Given the description of an element on the screen output the (x, y) to click on. 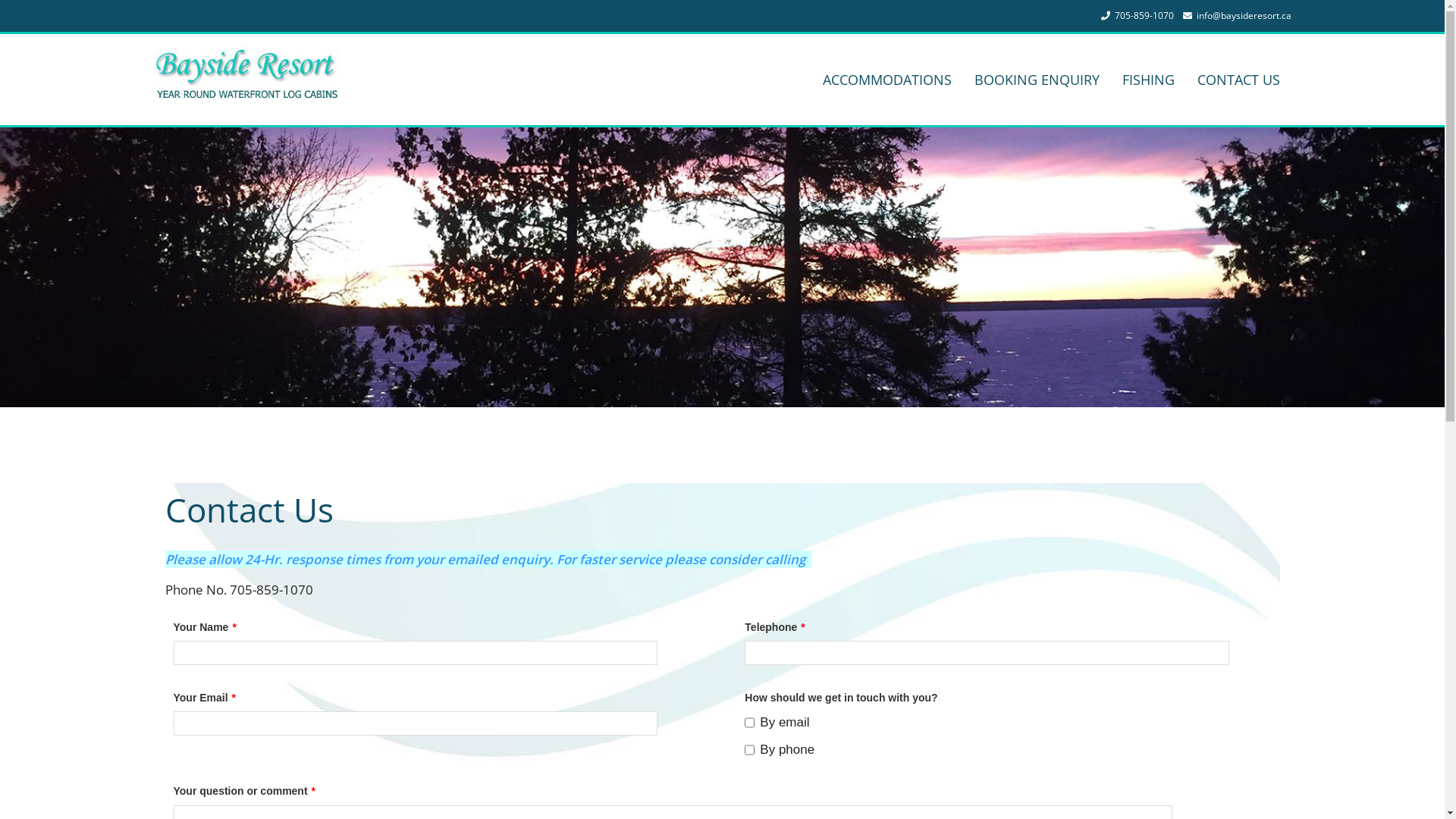
BOOKING ENQUIRY Element type: text (1036, 79)
ACCOMMODATIONS Element type: text (887, 79)
CONTACT US Element type: text (1238, 79)
FISHING Element type: text (1147, 79)
info@baysideresort.ca Element type: text (1243, 15)
705-859-1070 Element type: text (1143, 15)
